Given the description of an element on the screen output the (x, y) to click on. 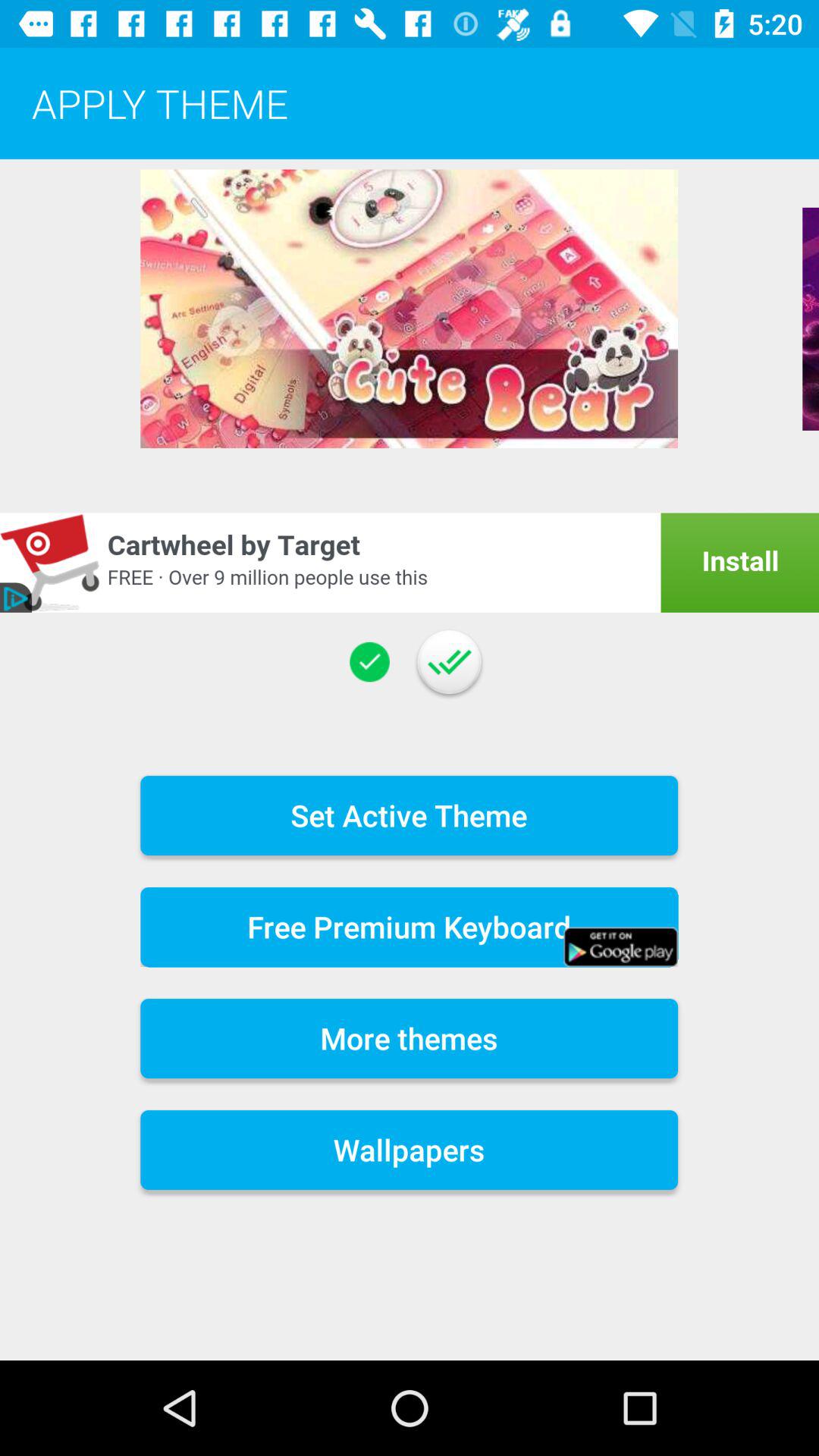
click the more themes icon (408, 1038)
